Given the description of an element on the screen output the (x, y) to click on. 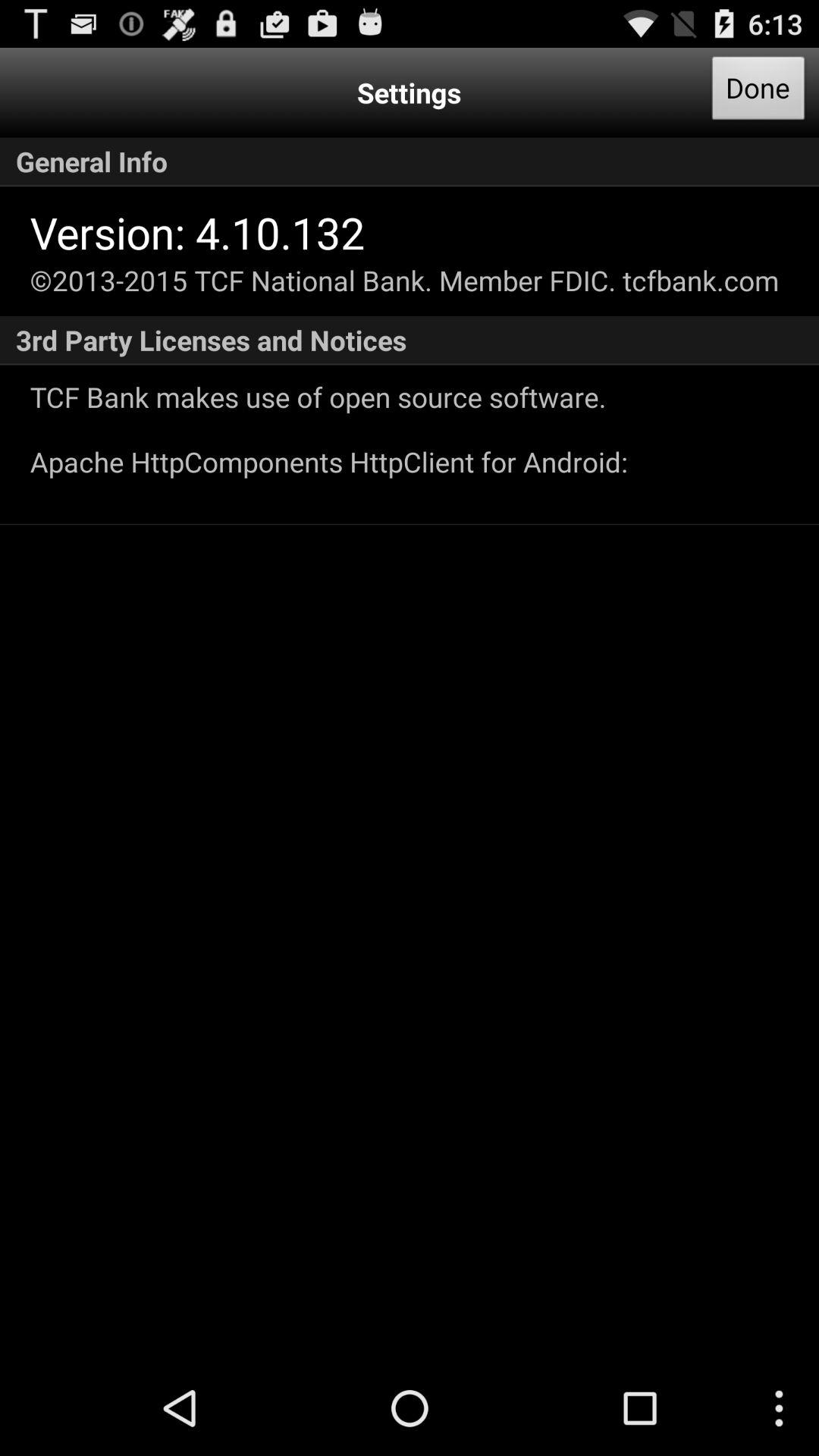
choose the version 4 10 item (197, 232)
